Given the description of an element on the screen output the (x, y) to click on. 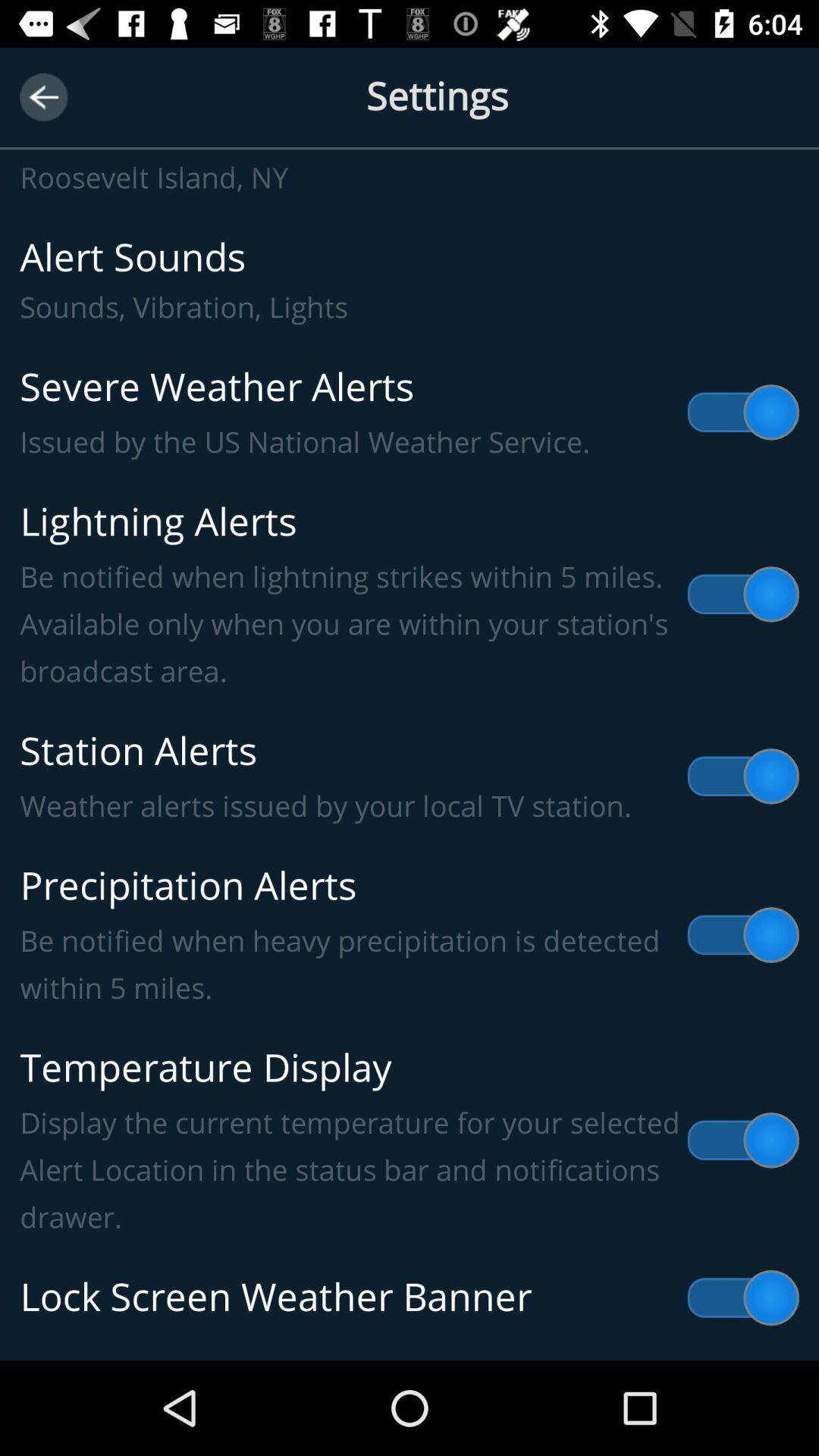
launch the icon above severe weather alerts item (409, 280)
